Given the description of an element on the screen output the (x, y) to click on. 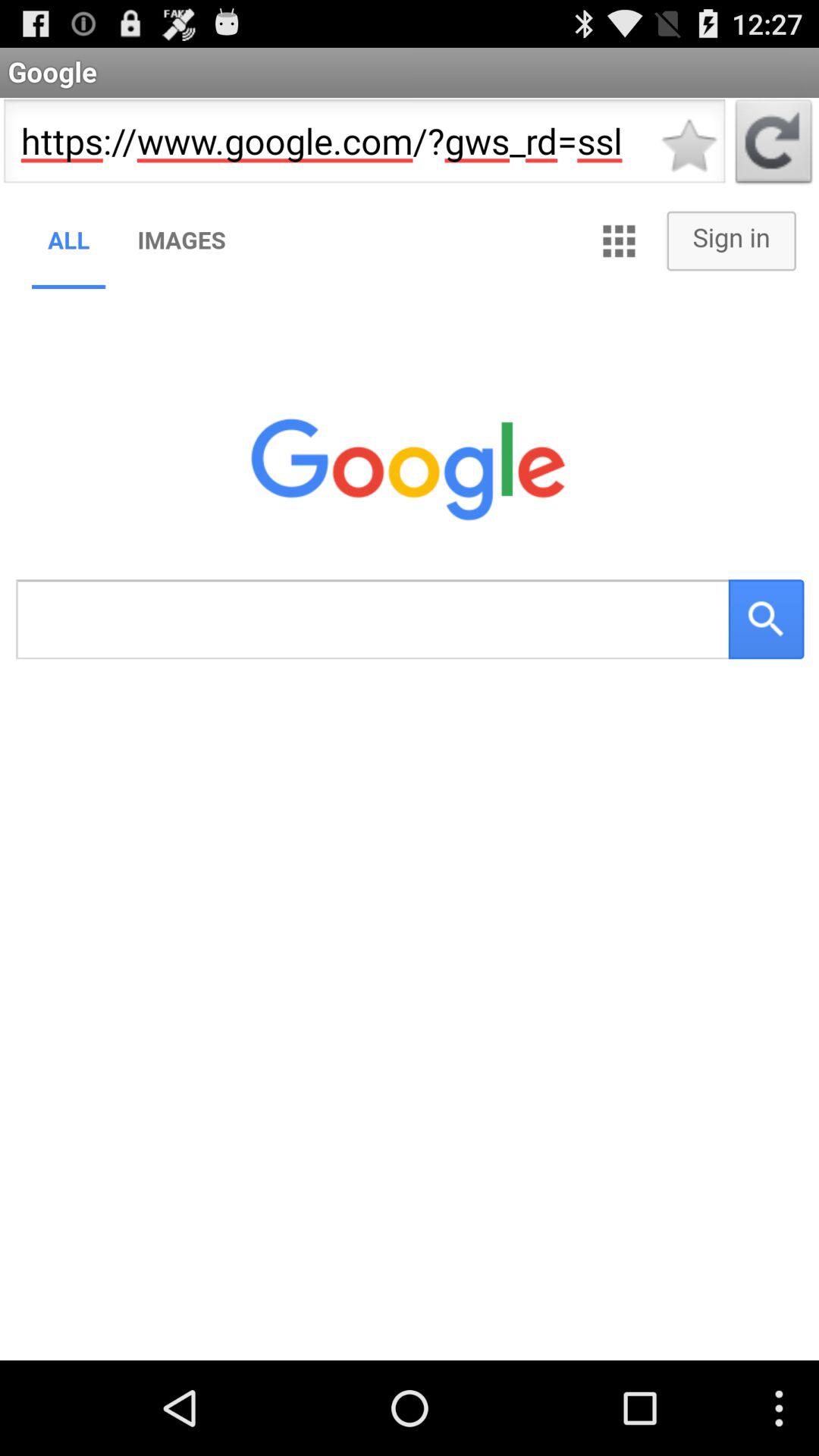
refresh page (774, 145)
